Given the description of an element on the screen output the (x, y) to click on. 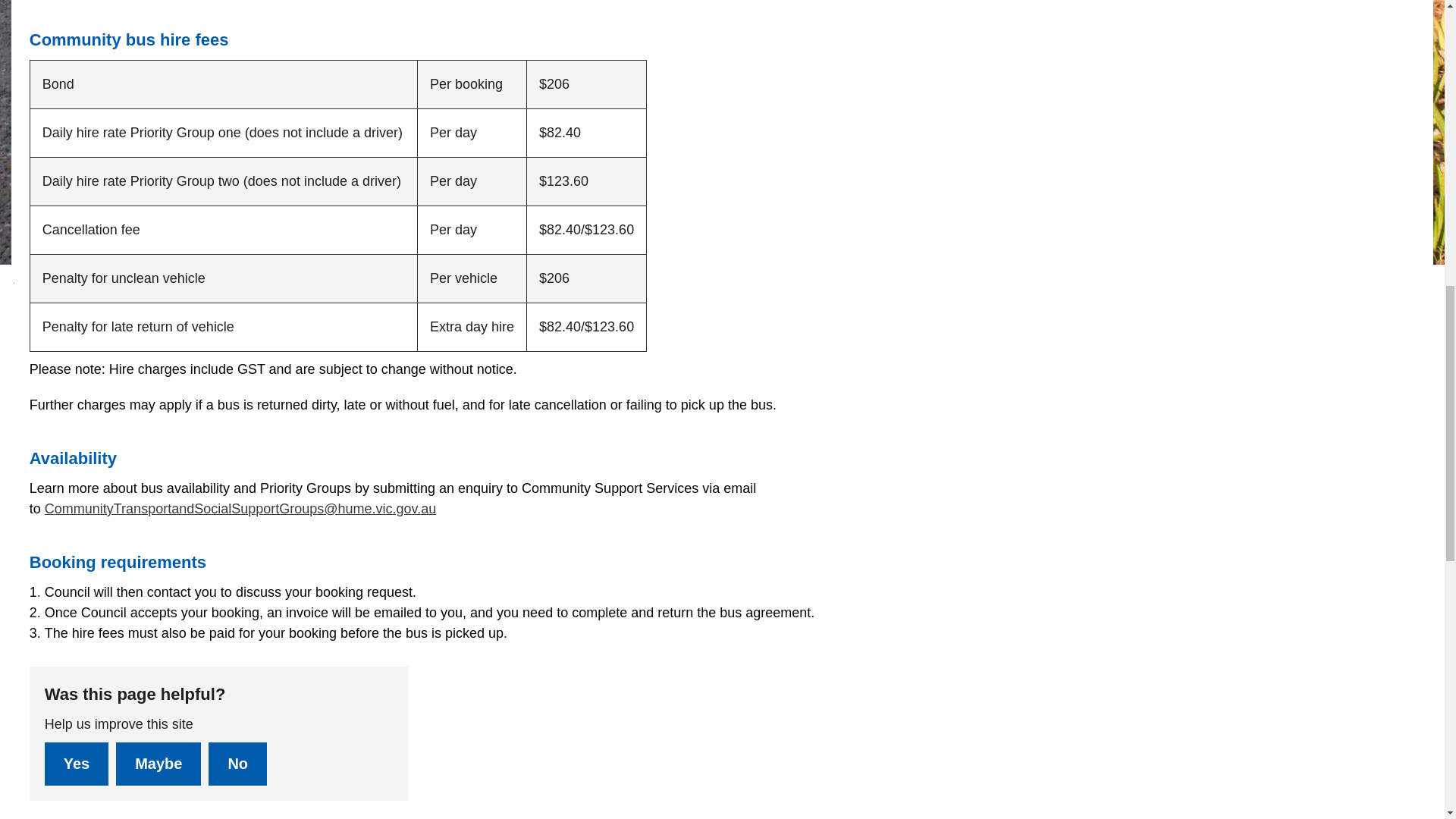
No, this page was not helpful (237, 763)
No (237, 763)
Yes, this page was helpful (76, 763)
Maybe (158, 763)
Yes (76, 763)
